Given the description of an element on the screen output the (x, y) to click on. 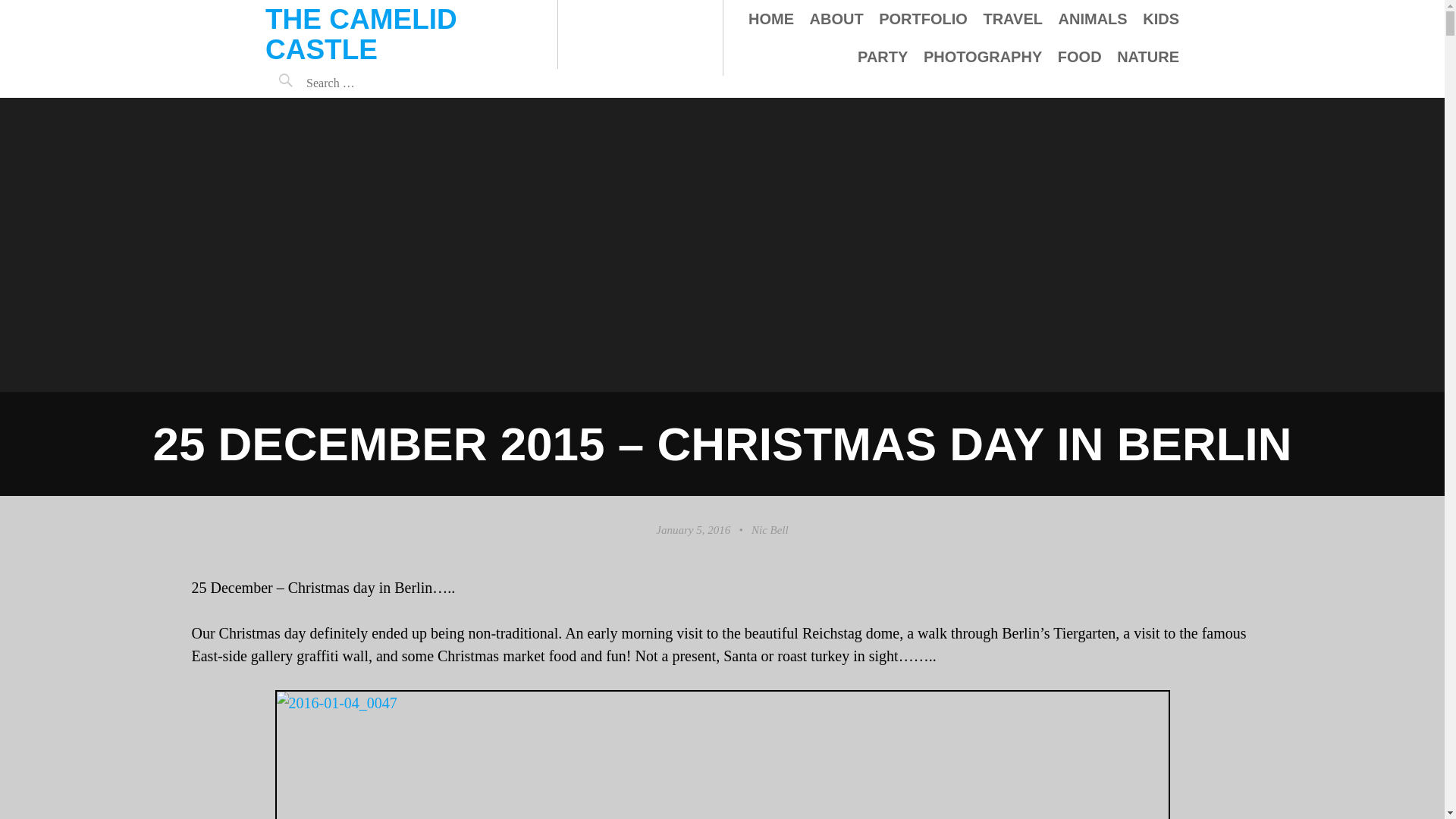
TRAVEL (1012, 18)
ABOUT (836, 18)
THE CAMELID CASTLE (360, 34)
HOME (770, 18)
PORTFOLIO (923, 18)
